Given the description of an element on the screen output the (x, y) to click on. 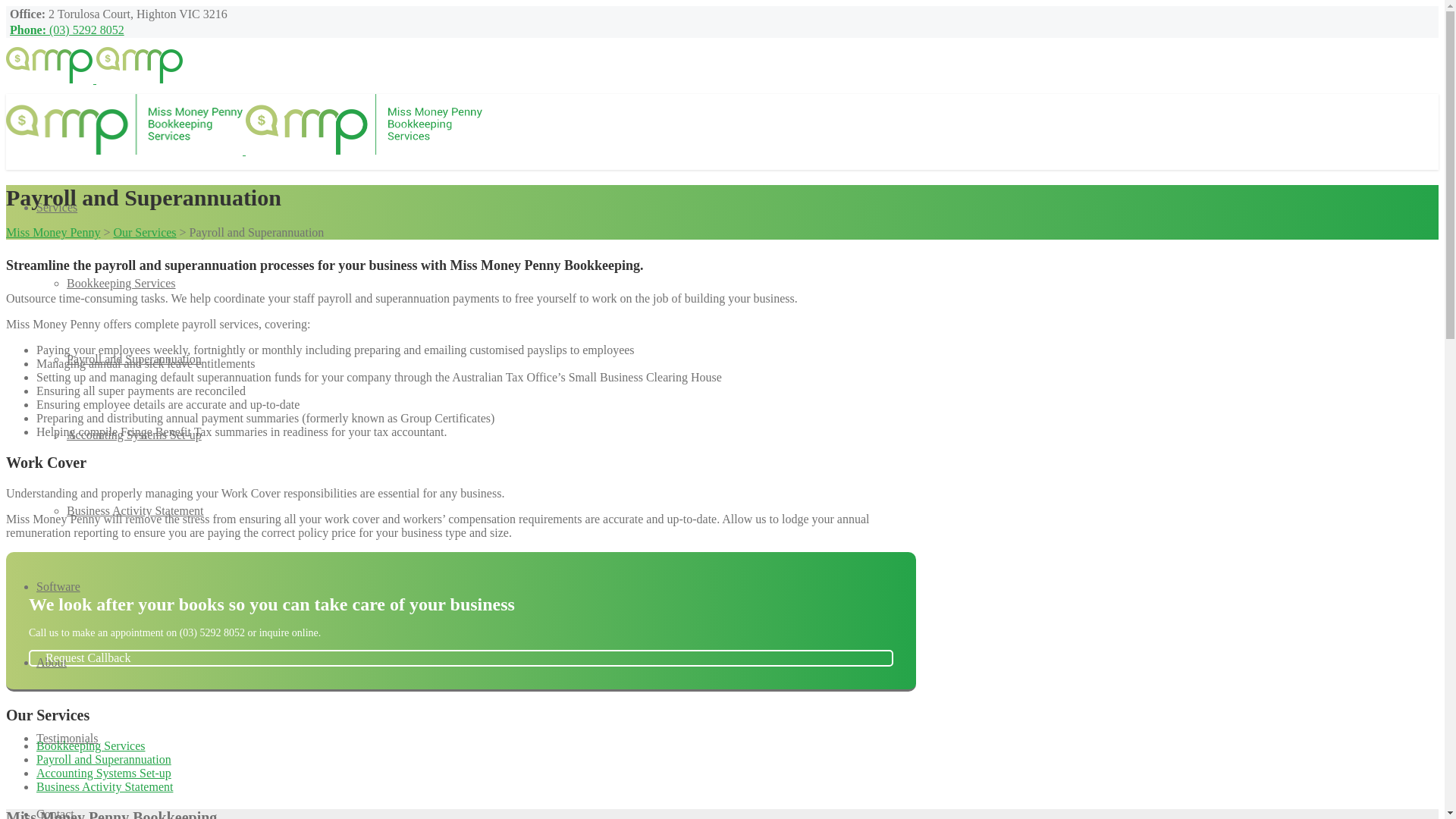
Our Services Element type: text (143, 231)
Miss Money Penny Element type: text (53, 231)
Bookkeeping Services Element type: text (120, 282)
About Element type: text (51, 661)
Payroll and Superannuation Element type: text (133, 358)
Business Activity Statement Element type: text (134, 510)
Payroll and Superannuation Element type: text (103, 759)
Phone: (03) 5292 8052 Element type: text (65, 29)
Services Element type: text (56, 206)
Accounting Systems Set-up Element type: text (103, 772)
Accounting Systems Set-up Element type: text (133, 434)
Testimonials Element type: text (67, 737)
Software Element type: text (58, 586)
Bookkeeping Services Element type: text (90, 745)
Business Activity Statement Element type: text (104, 786)
